Given the description of an element on the screen output the (x, y) to click on. 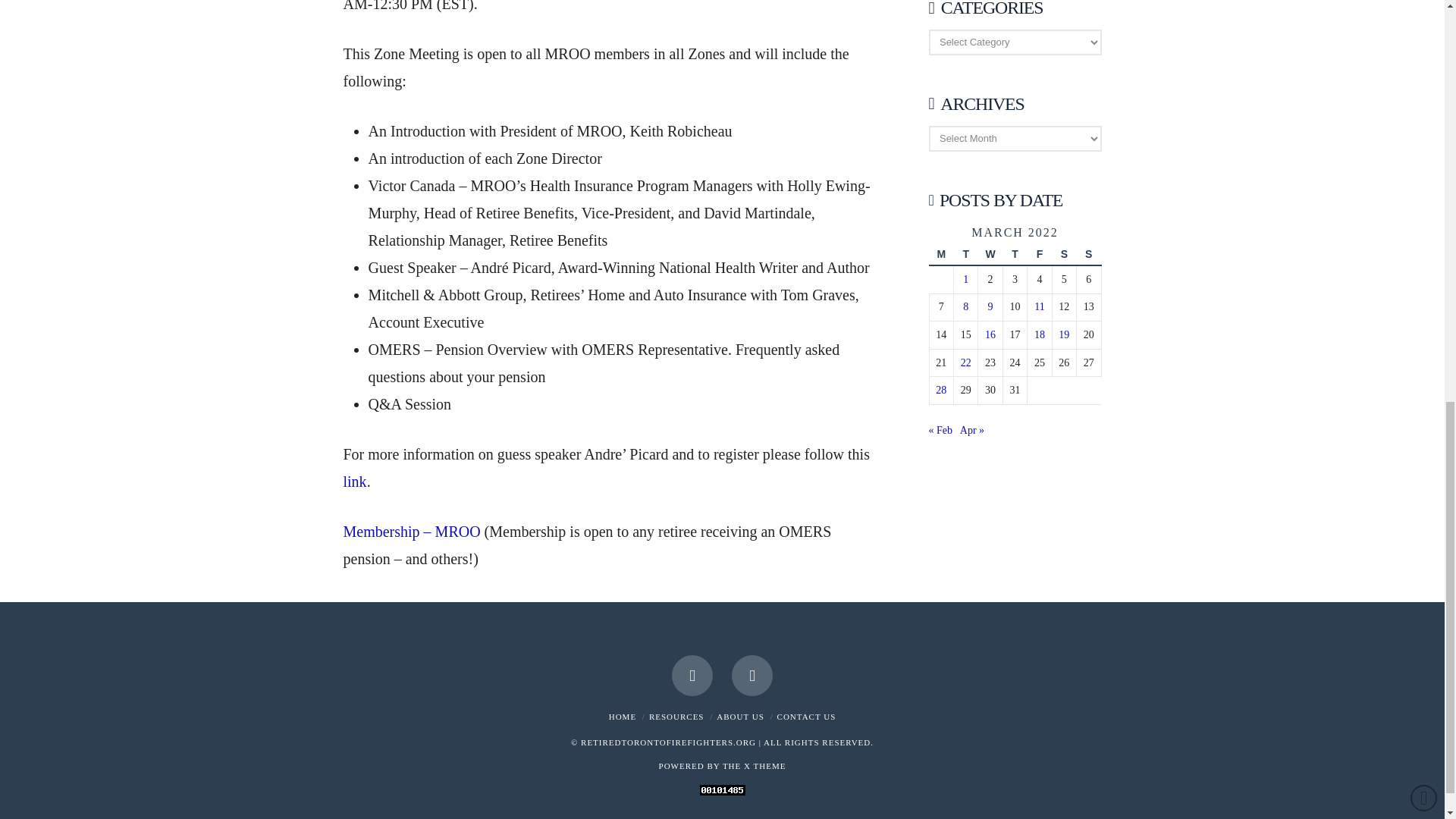
Tuesday (964, 255)
Wednesday (990, 255)
Thursday (1014, 255)
Saturday (1063, 255)
Sunday (1088, 255)
Facebook (692, 675)
Monday (940, 255)
Friday (1039, 255)
